Given the description of an element on the screen output the (x, y) to click on. 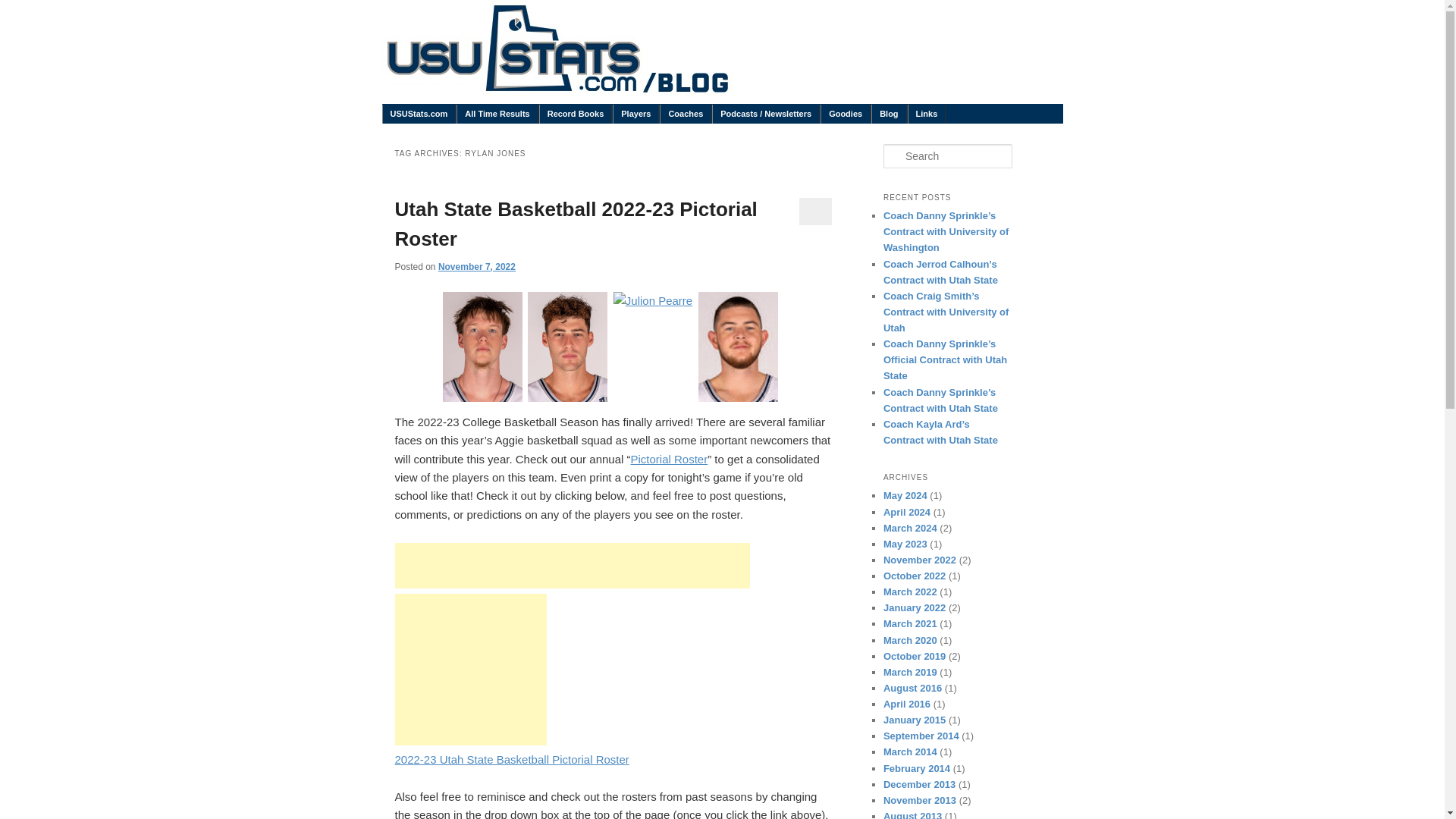
Julion Pearre (652, 300)
Record Books (575, 113)
Coaches (685, 113)
USUStats.com (419, 113)
Players (635, 113)
All Time Results (497, 113)
Permalink to Utah State Basketball 2022-23 Pictorial Roster (575, 224)
5:11 pm (476, 266)
